Given the description of an element on the screen output the (x, y) to click on. 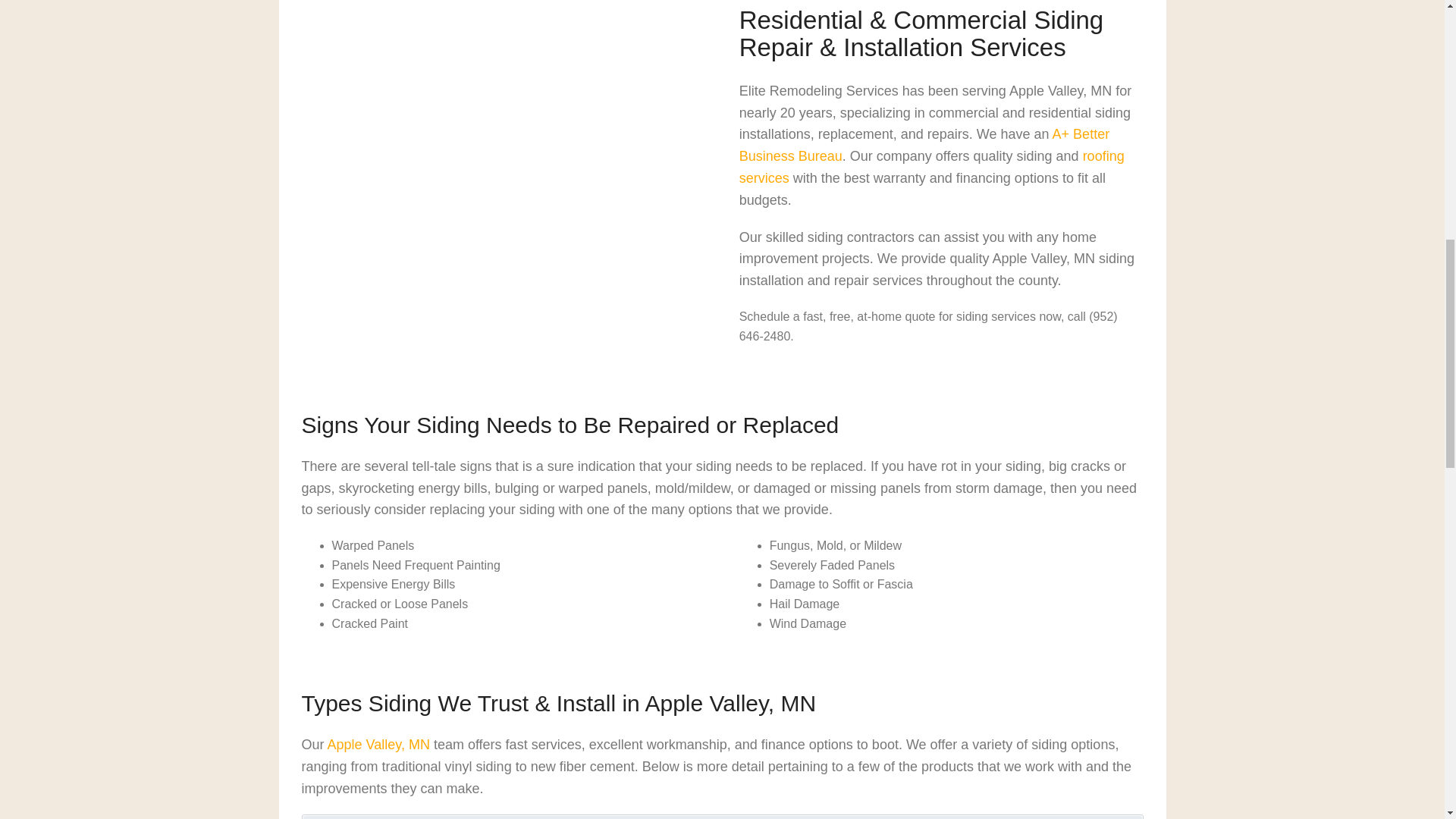
roofing services (931, 166)
Apple Valley, MN (378, 744)
